Given the description of an element on the screen output the (x, y) to click on. 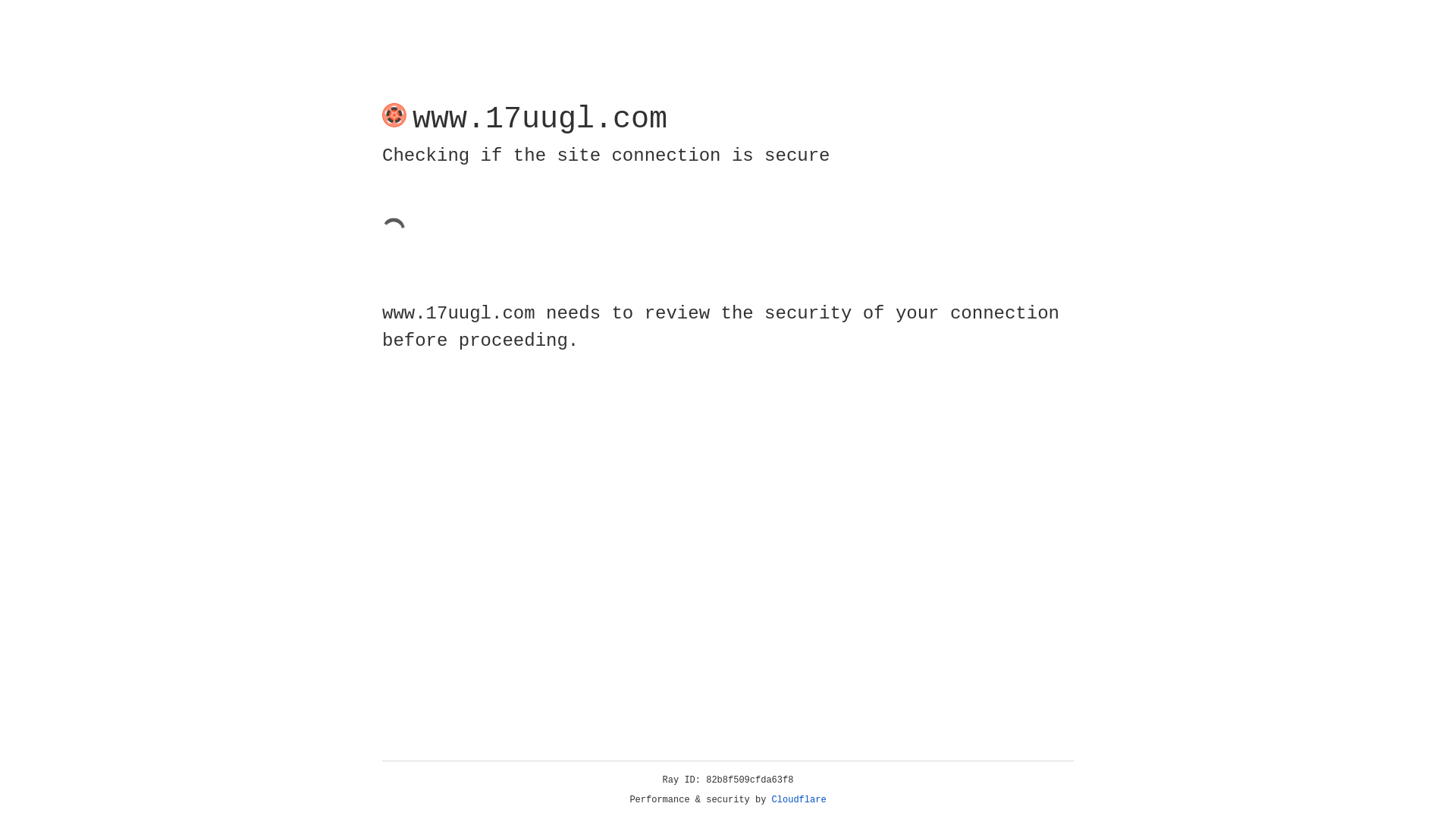
Cloudflare Element type: text (798, 799)
